Given the description of an element on the screen output the (x, y) to click on. 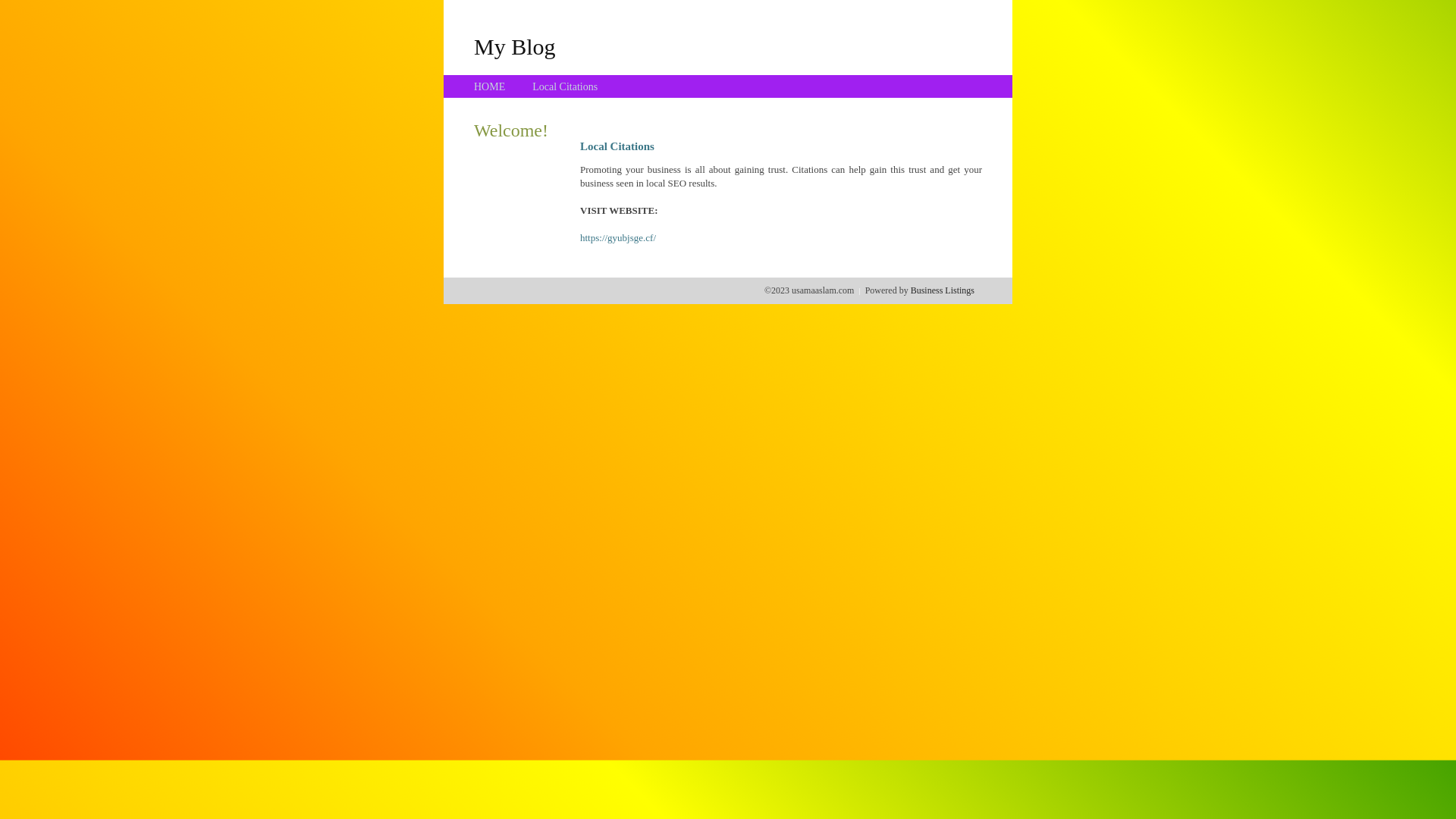
Business Listings Element type: text (942, 290)
HOME Element type: text (489, 86)
Local Citations Element type: text (564, 86)
https://gyubjsge.cf/ Element type: text (617, 237)
My Blog Element type: text (514, 46)
